Given the description of an element on the screen output the (x, y) to click on. 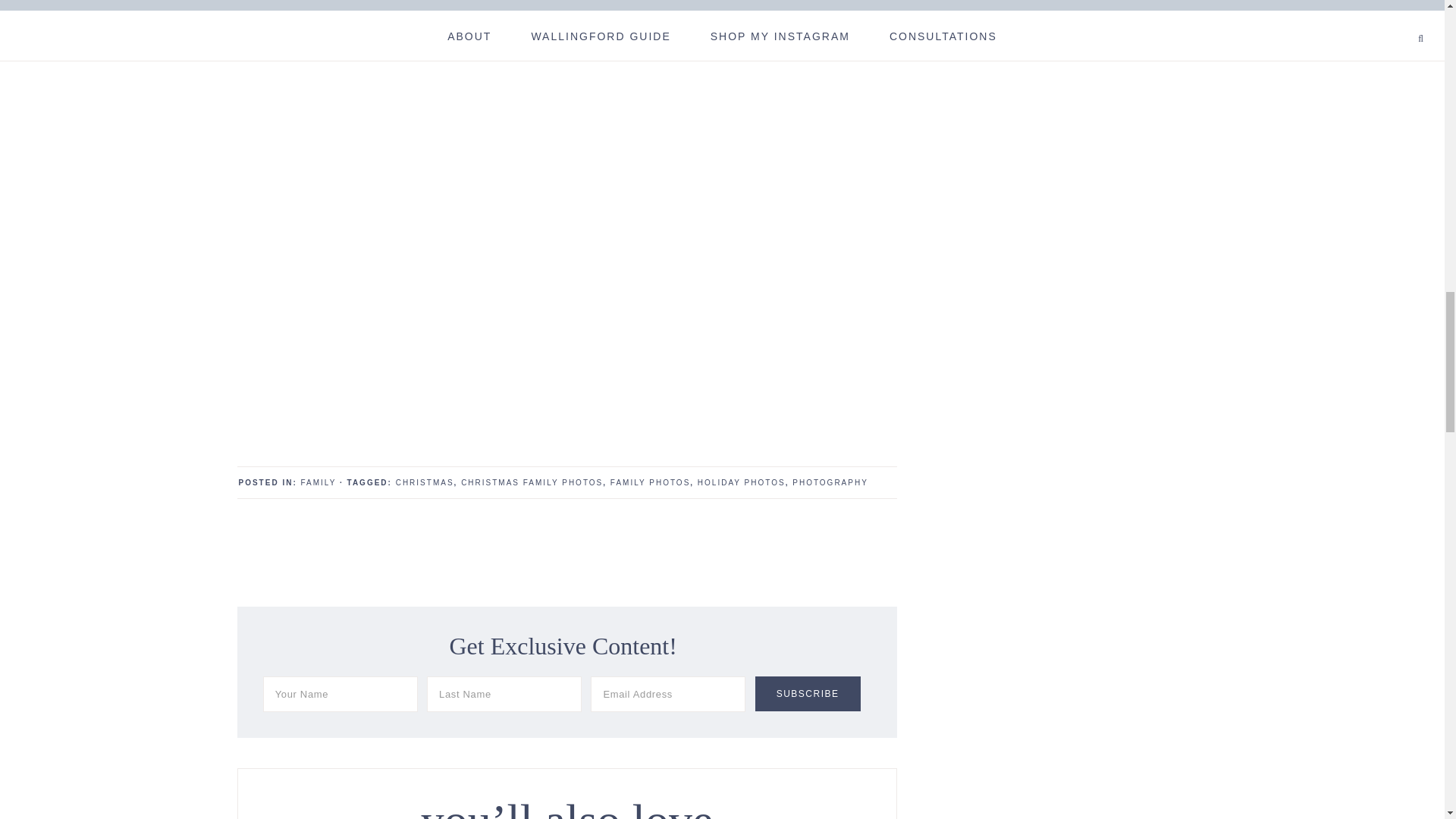
CHRISTMAS (425, 482)
Subscribe (807, 693)
CHRISTMAS FAMILY PHOTOS (531, 482)
FAMILY (318, 482)
PHOTOGRAPHY (829, 482)
FAMILY PHOTOS (650, 482)
HOLIDAY PHOTOS (741, 482)
Subscribe (807, 693)
